Given the description of an element on the screen output the (x, y) to click on. 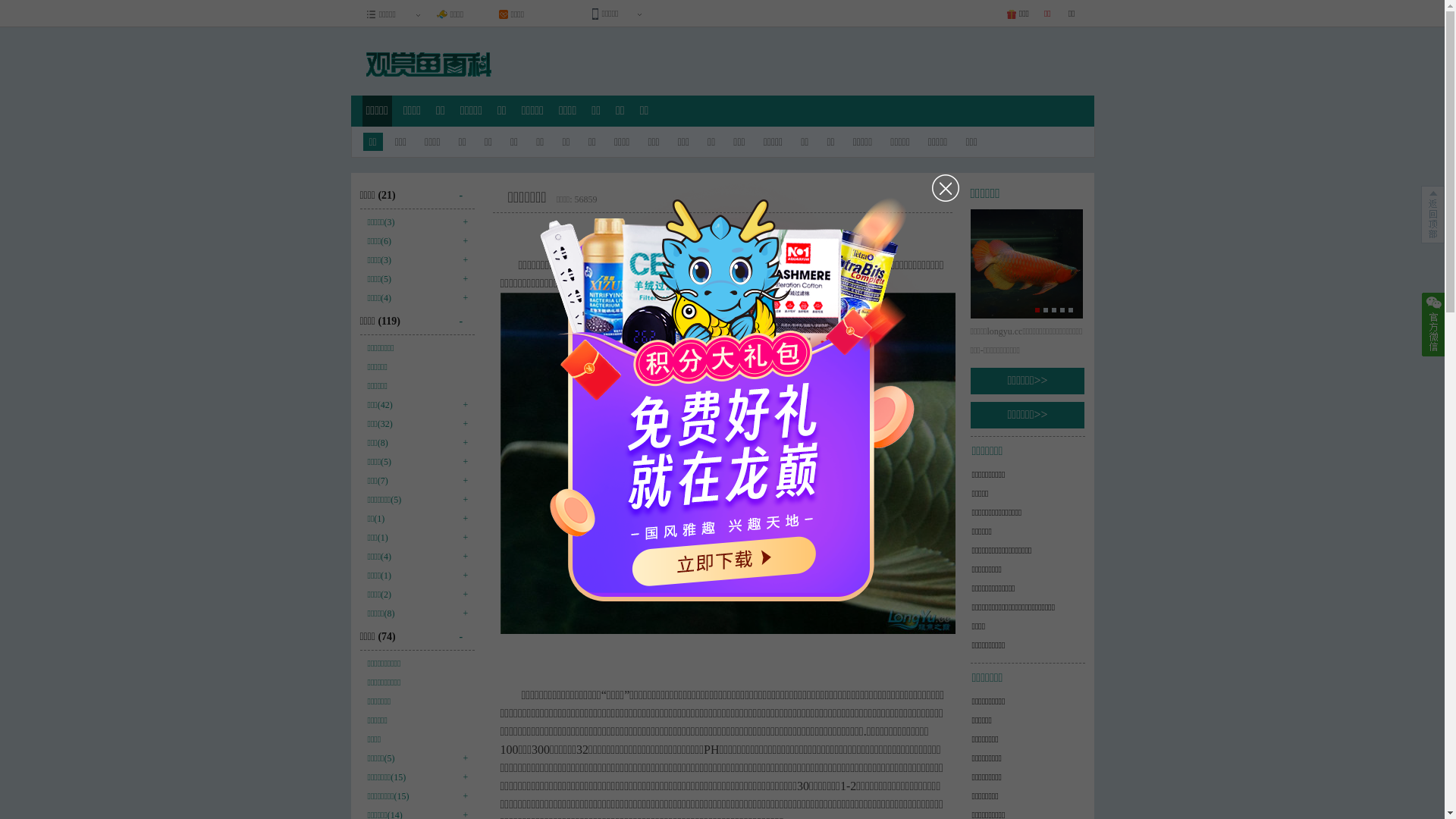
+ Element type: text (462, 220)
+ Element type: text (462, 239)
- Element type: text (466, 189)
+ Element type: text (462, 478)
- Element type: text (466, 630)
+ Element type: text (462, 459)
+ Element type: text (462, 516)
+ Element type: text (462, 554)
+ Element type: text (462, 497)
+ Element type: text (462, 535)
+ Element type: text (462, 573)
+ Element type: text (462, 403)
+ Element type: text (462, 421)
- Element type: text (466, 315)
+ Element type: text (462, 592)
+ Element type: text (462, 775)
+ Element type: text (462, 296)
+ Element type: text (462, 611)
+ Element type: text (462, 794)
+ Element type: text (462, 756)
+ Element type: text (462, 440)
+ Element type: text (462, 258)
+ Element type: text (462, 277)
